Given the description of an element on the screen output the (x, y) to click on. 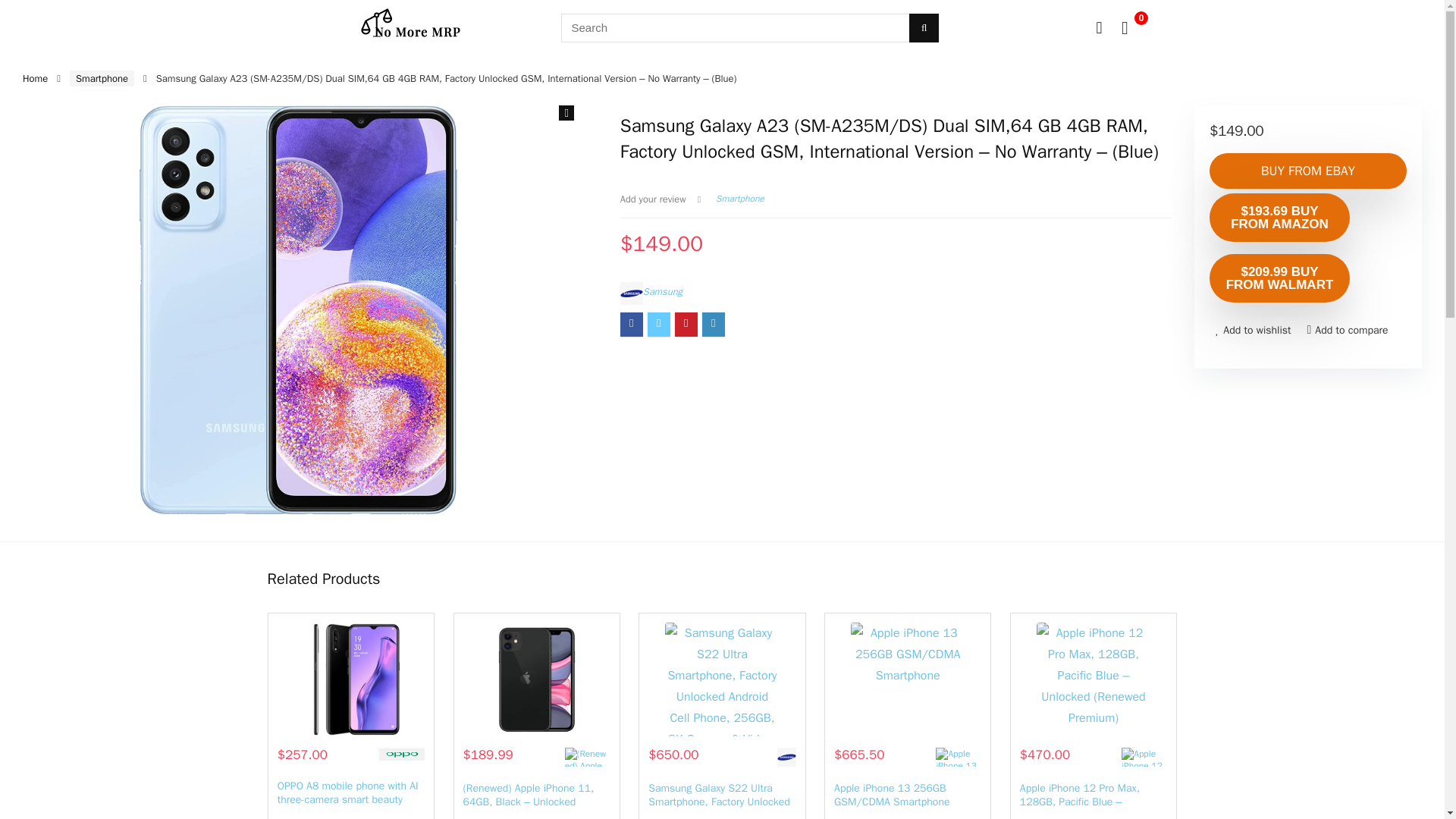
Smartphone (740, 198)
Smartphone (101, 78)
Add your review (652, 199)
Samsung (662, 291)
Home (35, 78)
View all posts in Smartphone (740, 198)
BUY FROM EBAY (1307, 171)
